Given the description of an element on the screen output the (x, y) to click on. 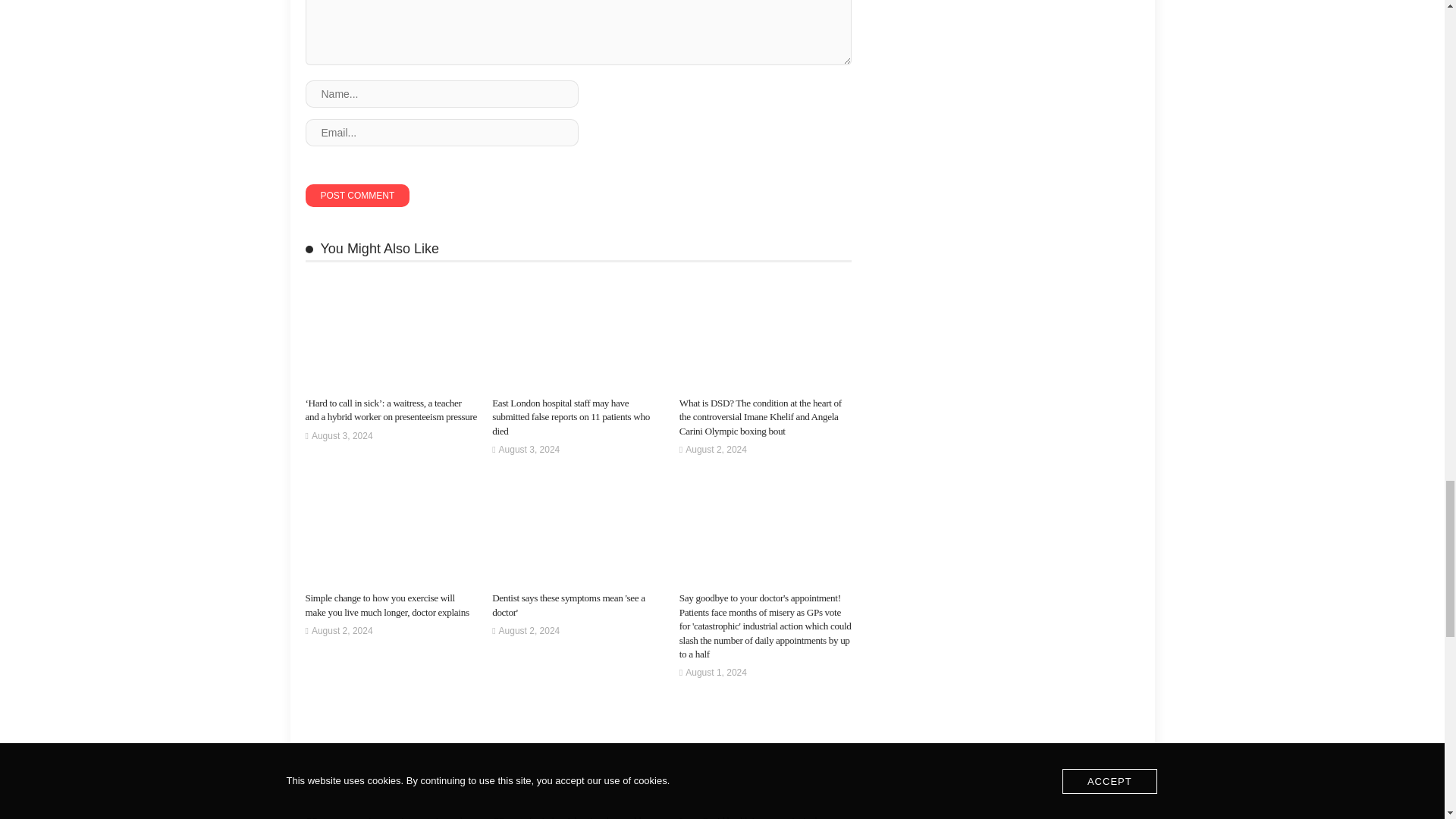
Post Comment (356, 195)
